Given the description of an element on the screen output the (x, y) to click on. 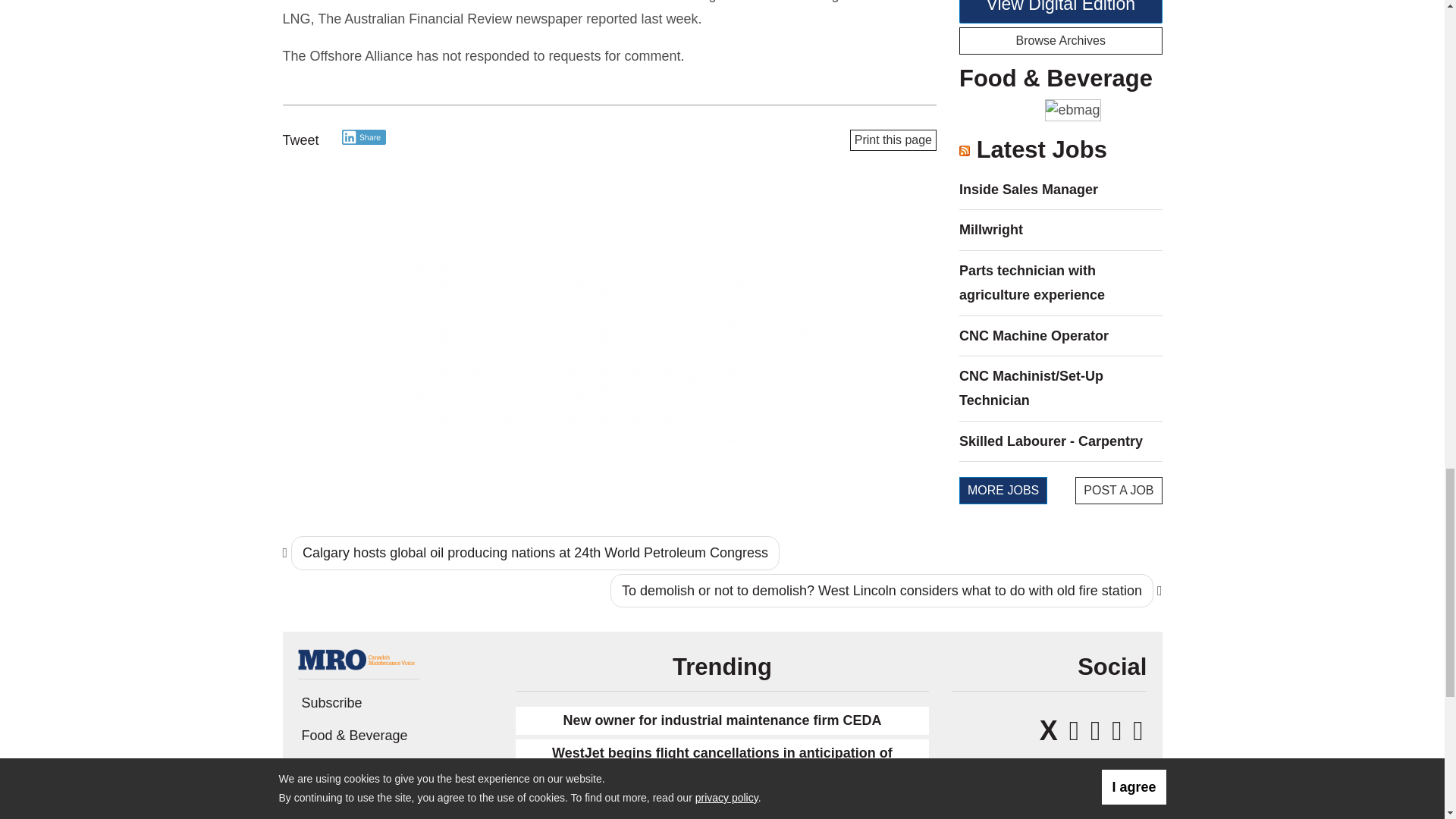
3rd party ad content (609, 350)
MRO Magazine (358, 658)
